Given the description of an element on the screen output the (x, y) to click on. 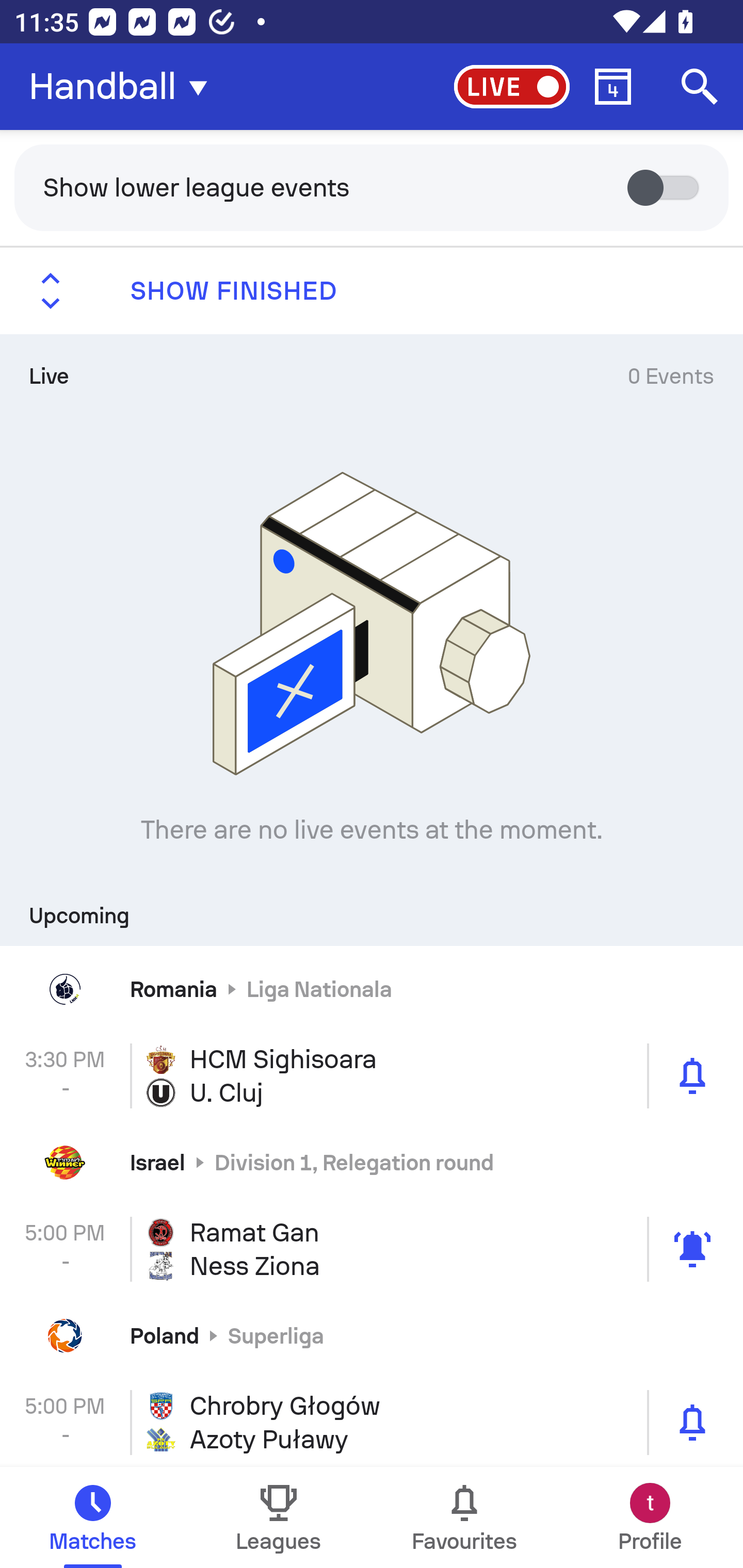
Handball (124, 86)
Calendar (612, 86)
Search (699, 86)
Show lower league events (371, 187)
SHOW FINISHED (371, 290)
Upcoming (371, 909)
Romania Liga Nationala (371, 989)
3:30 PM - HCM Sighisoara U. Cluj (371, 1076)
Israel Division 1, Relegation round (371, 1162)
5:00 PM - Ramat Gan Ness Ziona (371, 1248)
Poland Superliga (371, 1335)
5:00 PM - Chrobry Głogów Azoty Puławy (371, 1422)
Leagues (278, 1517)
Favourites (464, 1517)
Profile (650, 1517)
